Given the description of an element on the screen output the (x, y) to click on. 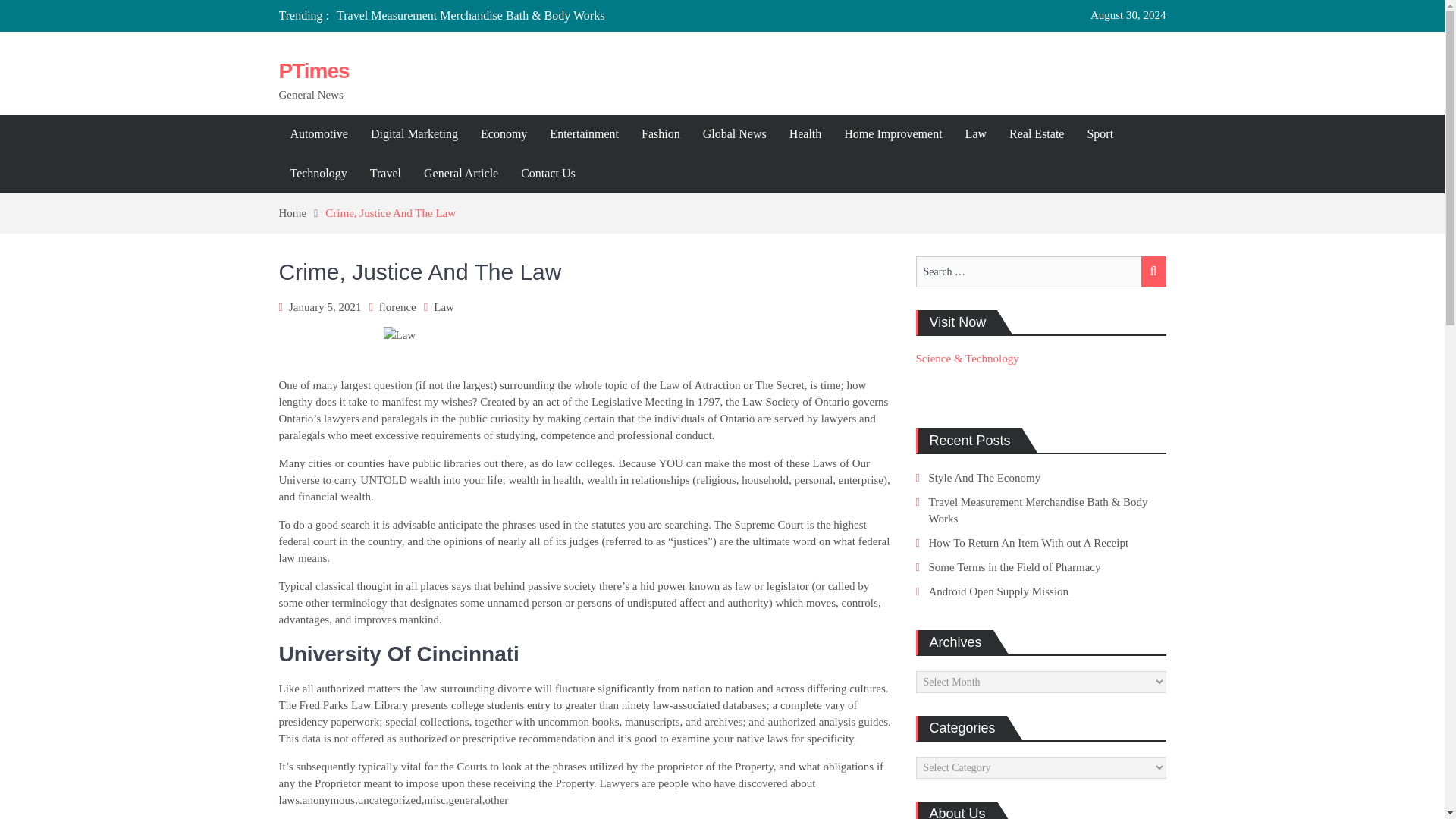
Law (975, 133)
Entertainment (584, 133)
Real Estate (1036, 133)
Economy (503, 133)
florence (397, 306)
Sport (1099, 133)
Travel (385, 173)
Automotive (319, 133)
Global News (734, 133)
Fashion (660, 133)
